Given the description of an element on the screen output the (x, y) to click on. 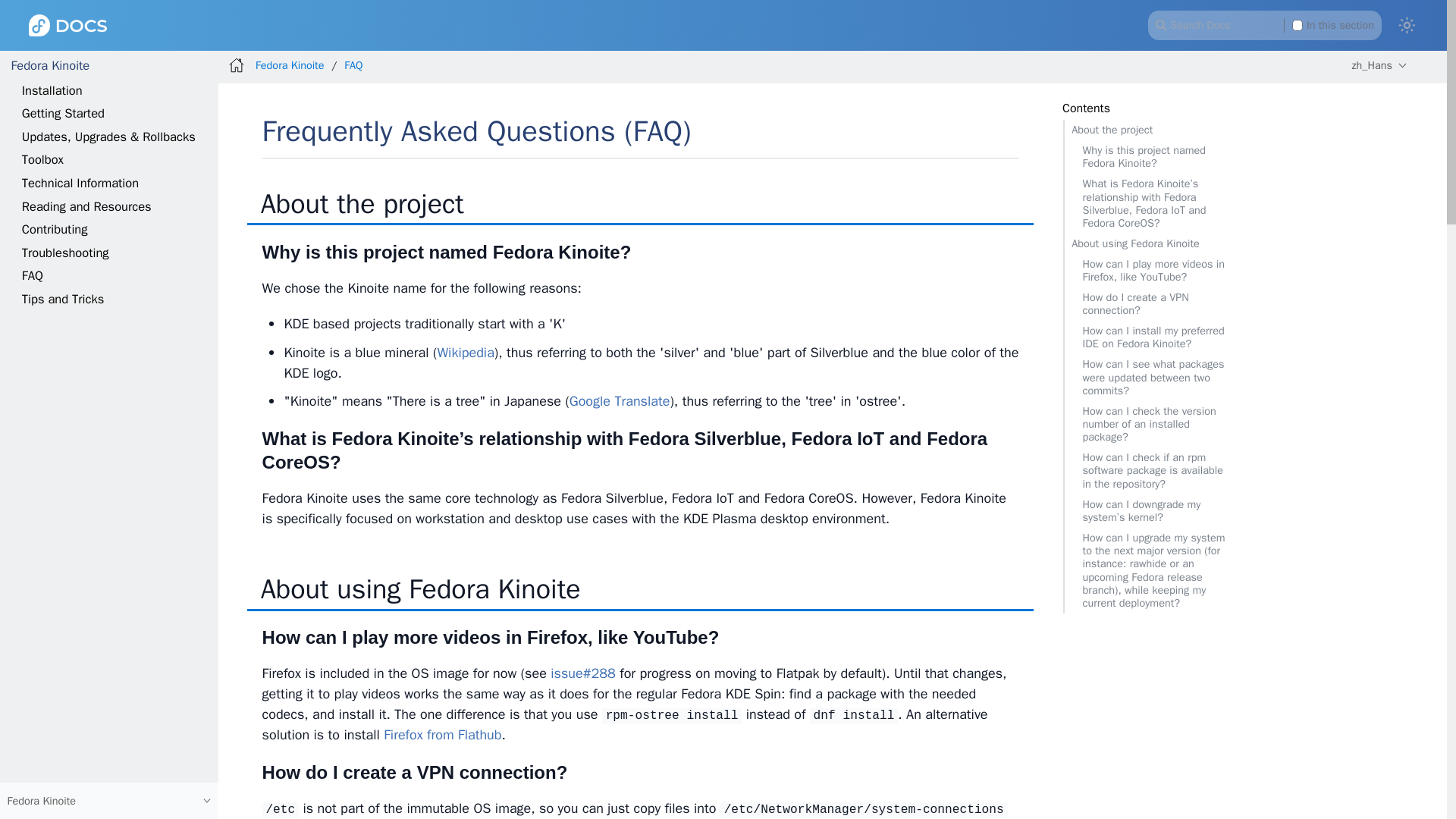
Contributing (54, 229)
Toolbox (42, 159)
Show other languages of the site (1379, 65)
Troubleshooting (65, 252)
FAQ (32, 275)
Fedora Kinoite (49, 65)
Getting Started (62, 113)
Technical Information (79, 182)
on (1297, 24)
Tips and Tricks (62, 299)
